Given the description of an element on the screen output the (x, y) to click on. 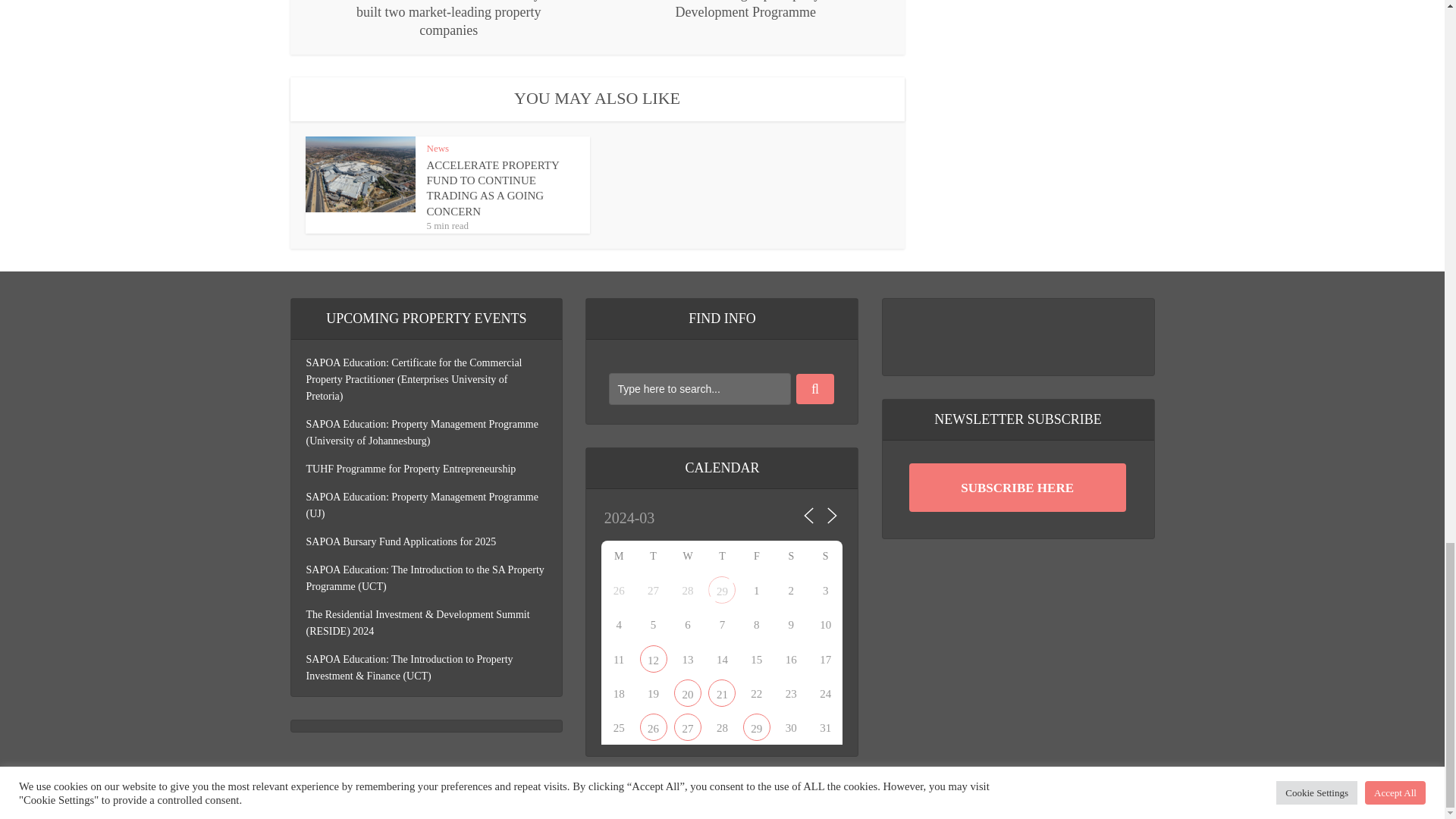
PSG Think Big Series: Mayor Geordin Hill-Lewis (653, 726)
SAPOA Research Webinar: Retail Trends Report (687, 692)
2024-03 (666, 518)
Type here to search... (699, 388)
SAPOA Educational Webinars: Intro to Broking (653, 658)
Type here to search... (699, 388)
